Given the description of an element on the screen output the (x, y) to click on. 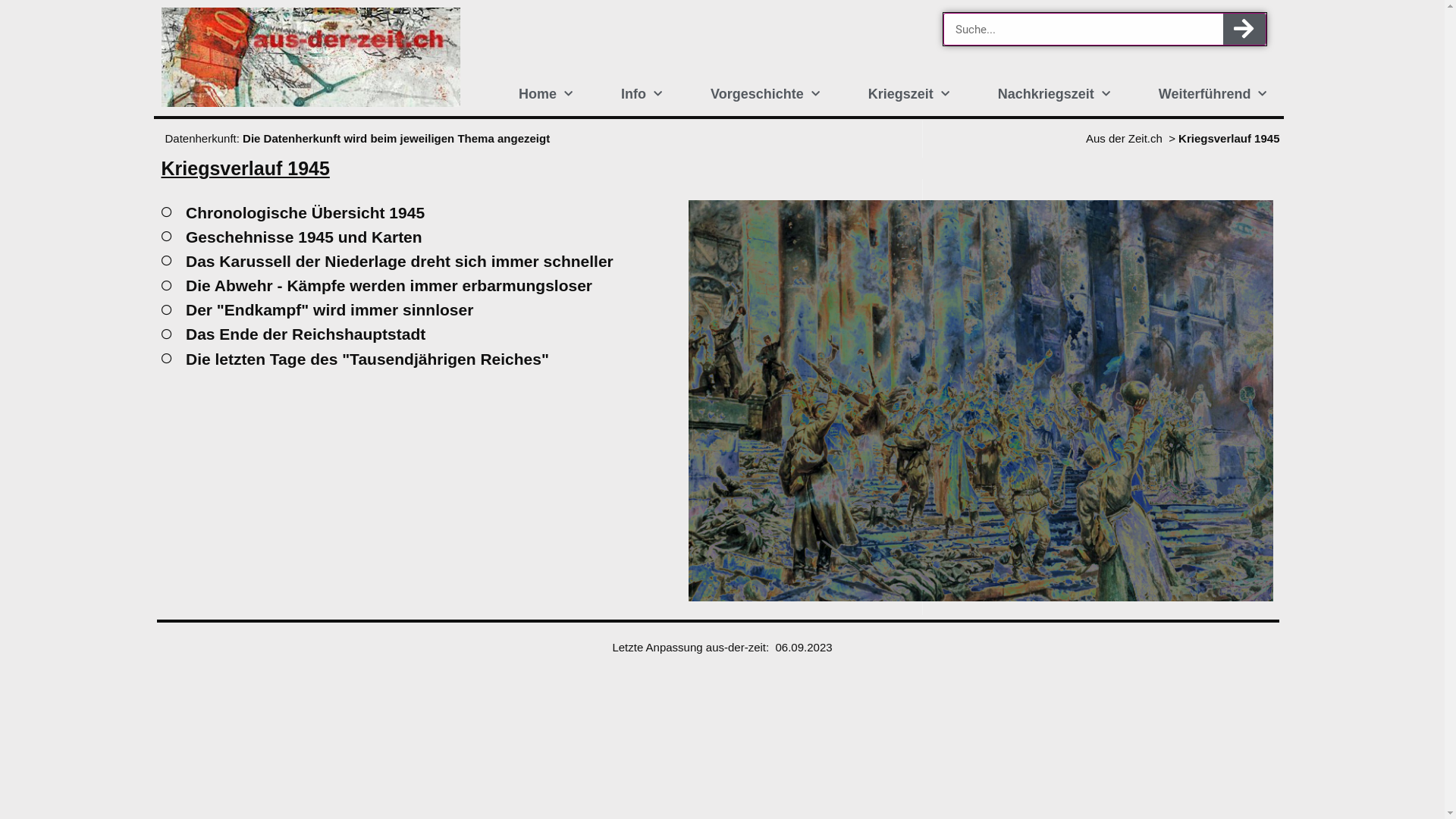
Info Element type: text (641, 93)
Geschehnisse 1945 und Karten Element type: text (413, 236)
Das Karussell der Niederlage dreht sich immer schneller Element type: text (413, 260)
Home Element type: text (545, 93)
Kriegszeit Element type: text (908, 93)
Der "Endkampf" wird immer sinnloser Element type: text (413, 309)
Nachkriegszeit Element type: text (1053, 93)
Das Ende der Reichshauptstadt Element type: text (413, 333)
Vorgeschichte Element type: text (765, 93)
